Given the description of an element on the screen output the (x, y) to click on. 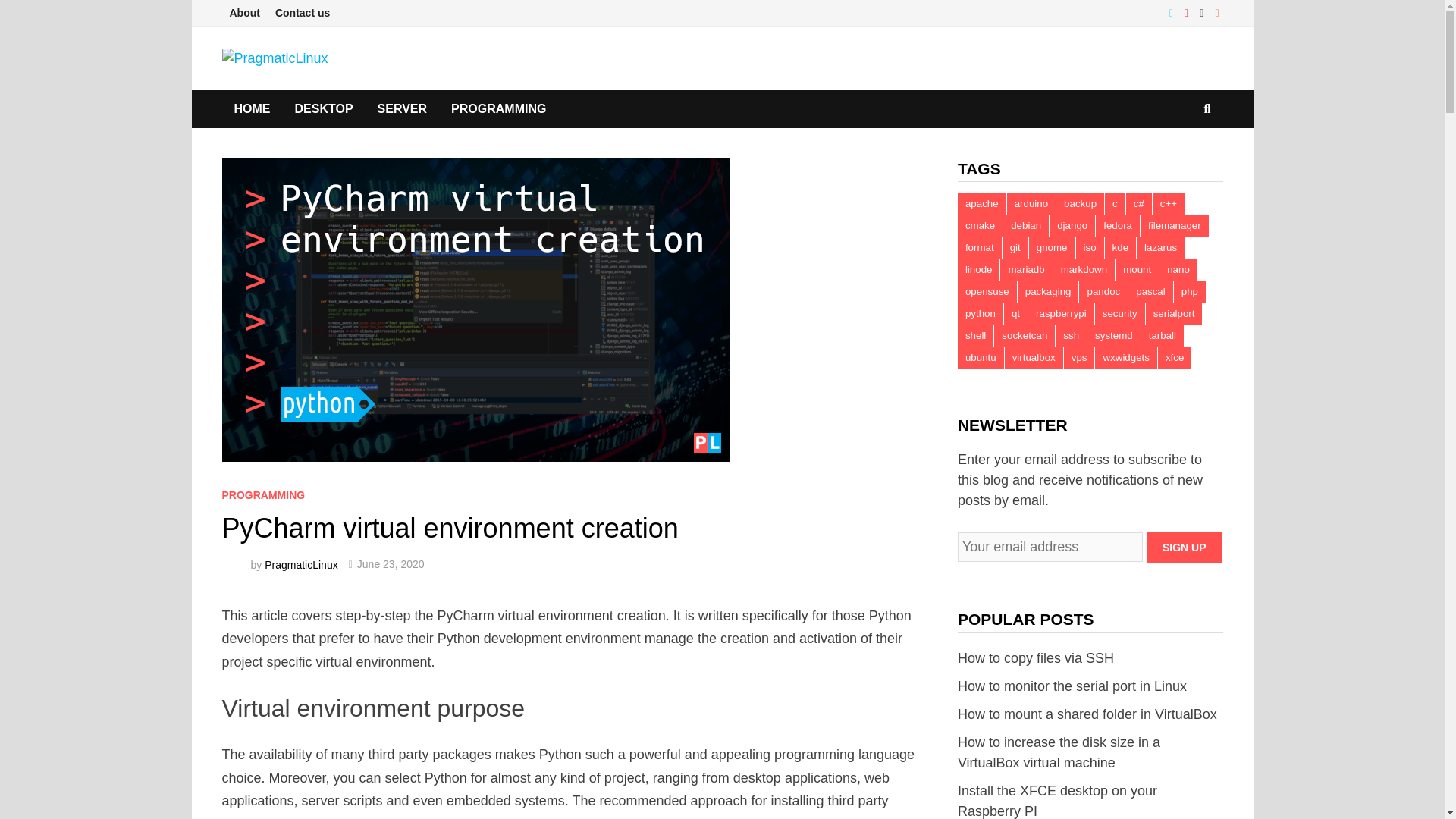
PROGRAMMING (498, 108)
About (243, 13)
Twitter (1173, 11)
Sign up (1185, 547)
June 23, 2020 (390, 563)
HOME (251, 108)
PROGRAMMING (262, 494)
Contact us (302, 13)
PragmaticLinux (300, 563)
SERVER (402, 108)
